Given the description of an element on the screen output the (x, y) to click on. 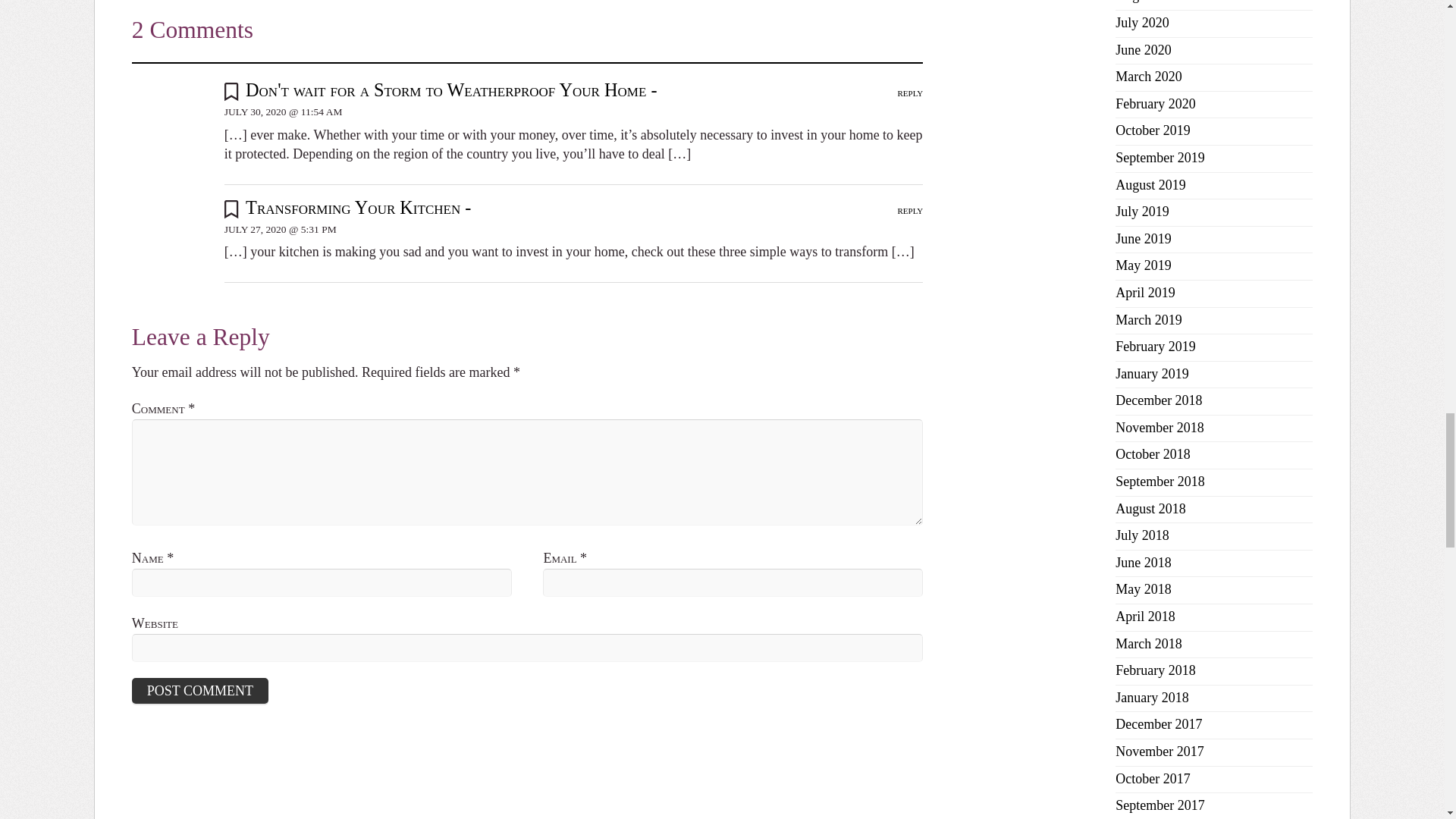
Post Comment (199, 690)
